Given the description of an element on the screen output the (x, y) to click on. 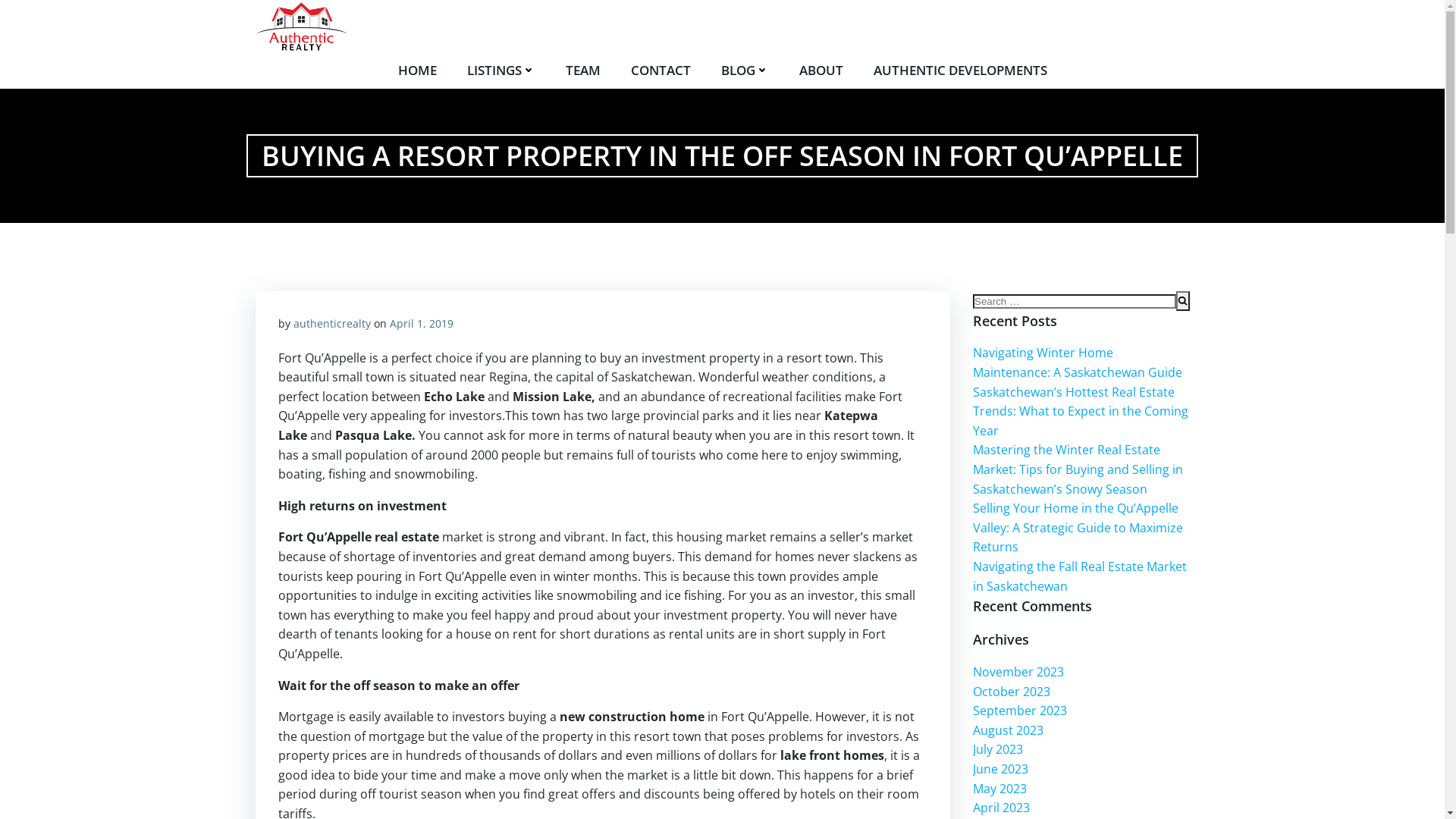
CONTACT Element type: text (660, 70)
June 2023 Element type: text (1000, 768)
May 2023 Element type: text (999, 788)
ABOUT Element type: text (821, 70)
authenticrealty Element type: text (331, 323)
November 2023 Element type: text (1017, 671)
August 2023 Element type: text (1007, 729)
Navigating Winter Home Maintenance: A Saskatchewan Guide Element type: text (1077, 362)
Search  Element type: text (18, 9)
July 2023 Element type: text (997, 748)
AUTHENTIC DEVELOPMENTS Element type: text (960, 70)
HOME Element type: text (416, 70)
TEAM Element type: text (582, 70)
AUTHENTICREALTY.CA Element type: text (385, 26)
April 2023 Element type: text (1000, 807)
Navigating the Fall Real Estate Market in Saskatchewan Element type: text (1079, 576)
October 2023 Element type: text (1011, 691)
BLOG Element type: text (744, 70)
April 1, 2019 Element type: text (421, 323)
September 2023 Element type: text (1019, 710)
LISTINGS Element type: text (501, 70)
